Given the description of an element on the screen output the (x, y) to click on. 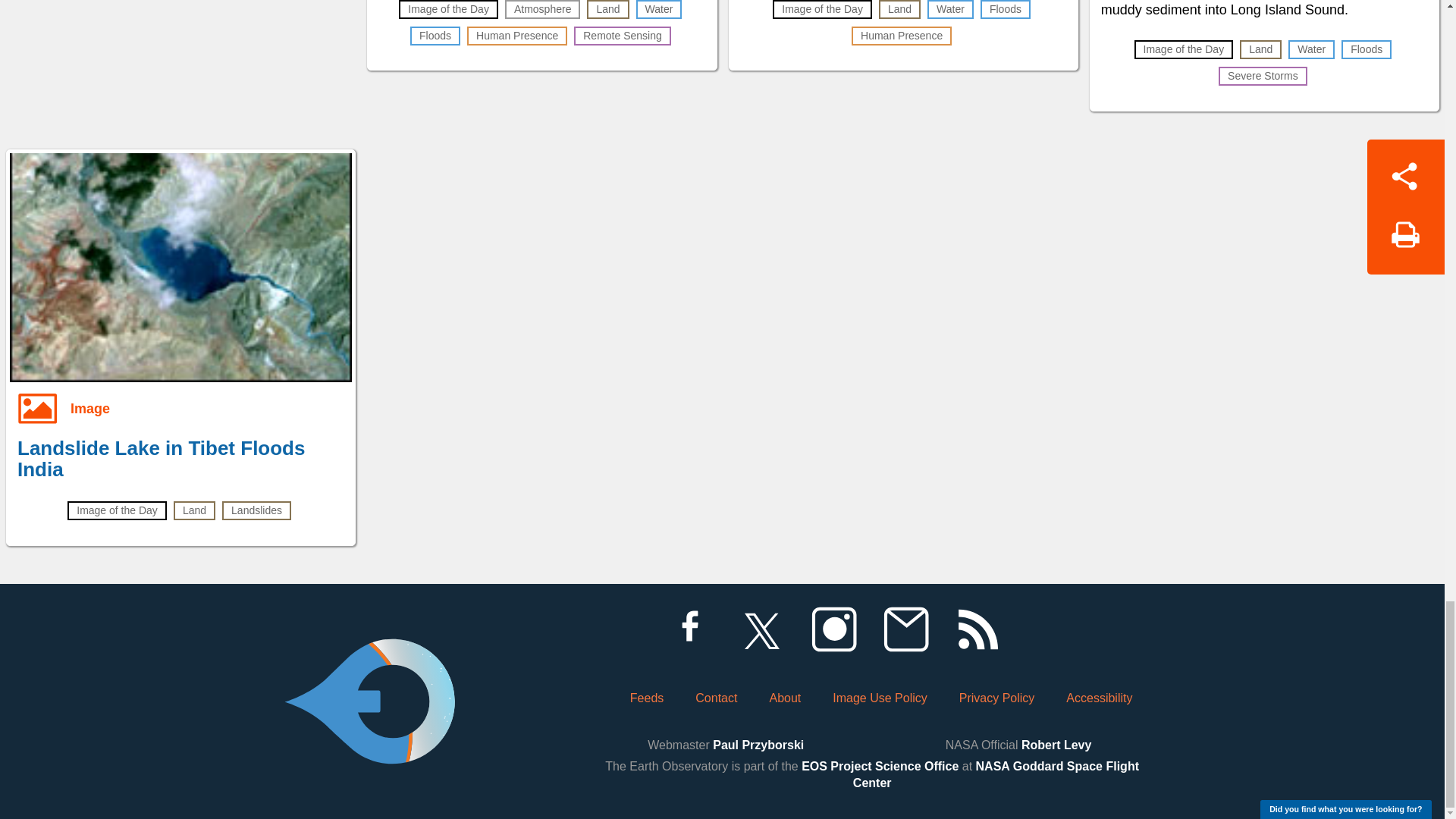
Subscribe (905, 629)
Earth Observatory (369, 659)
Twitter (761, 629)
RSS (977, 629)
Instagram (833, 629)
Facebook (689, 629)
